Given the description of an element on the screen output the (x, y) to click on. 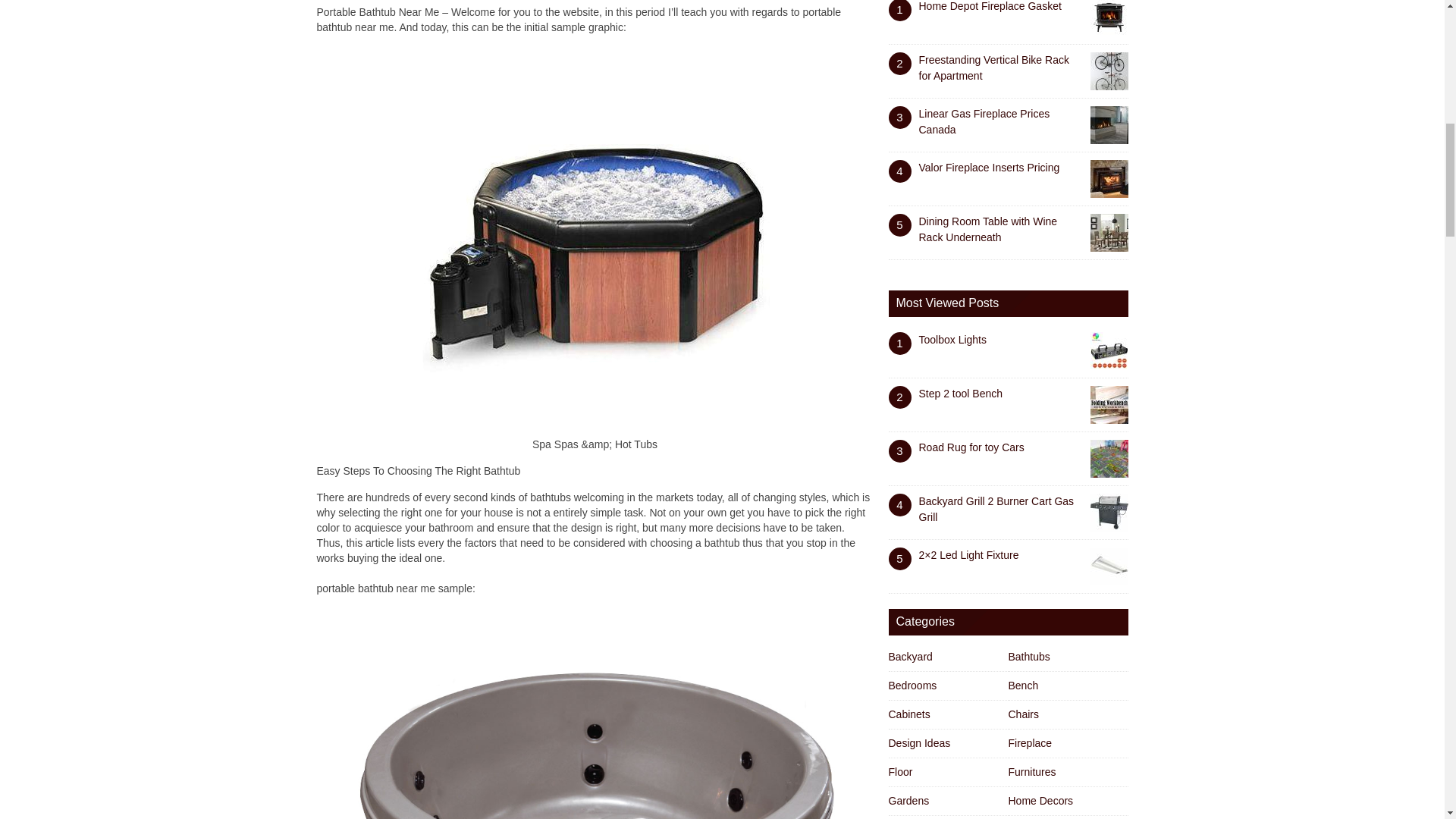
Home Depot Fireplace Gasket (989, 6)
Tips Great Hot Tubs Lowes To Enjoy Outside Relaxation (595, 713)
